Given the description of an element on the screen output the (x, y) to click on. 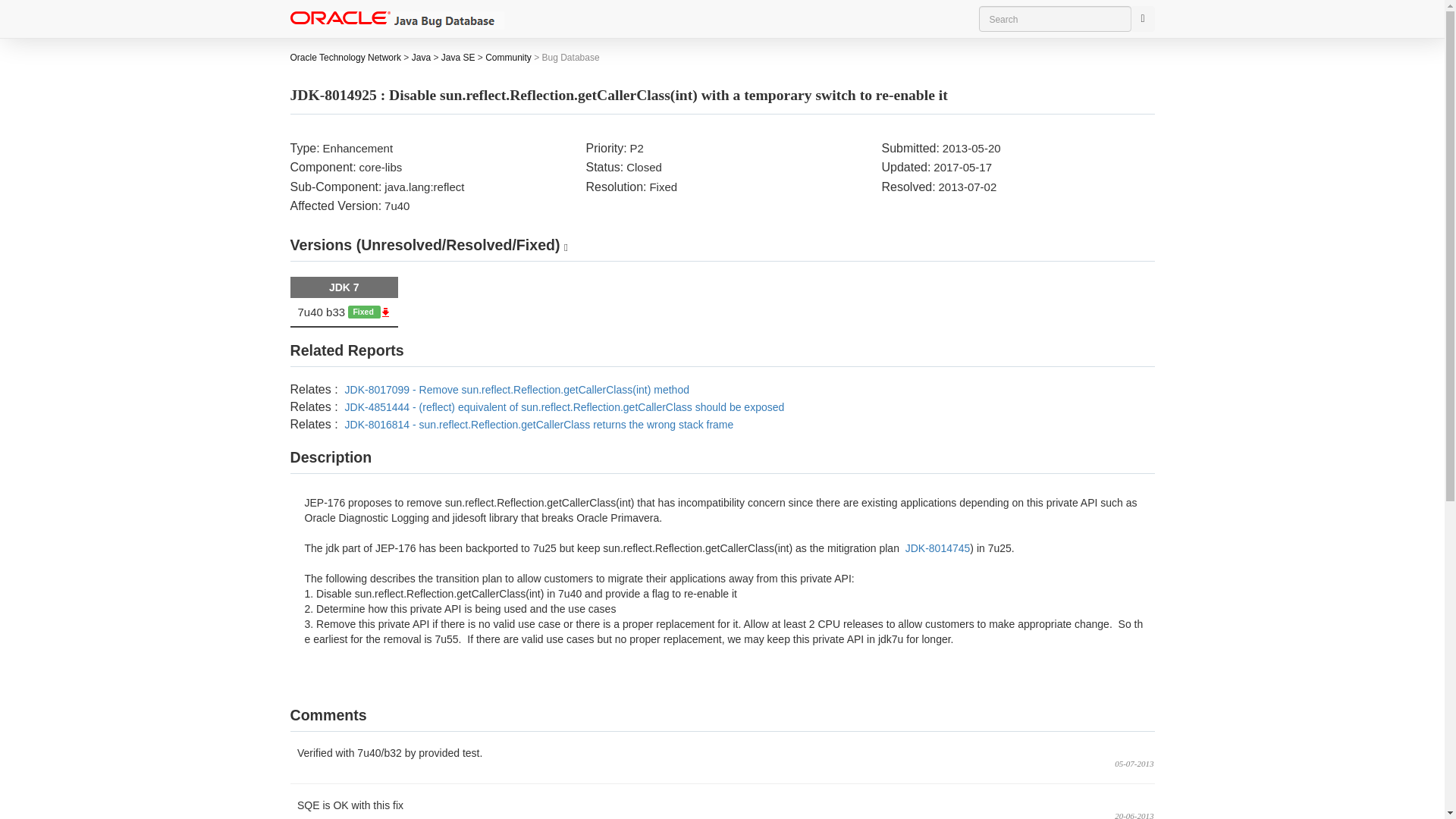
Java SE (458, 57)
Community (507, 57)
Oracle Technology Network (345, 57)
Search Java bugs (1054, 18)
 JDK-8014745 (936, 548)
Java (421, 57)
